Given the description of an element on the screen output the (x, y) to click on. 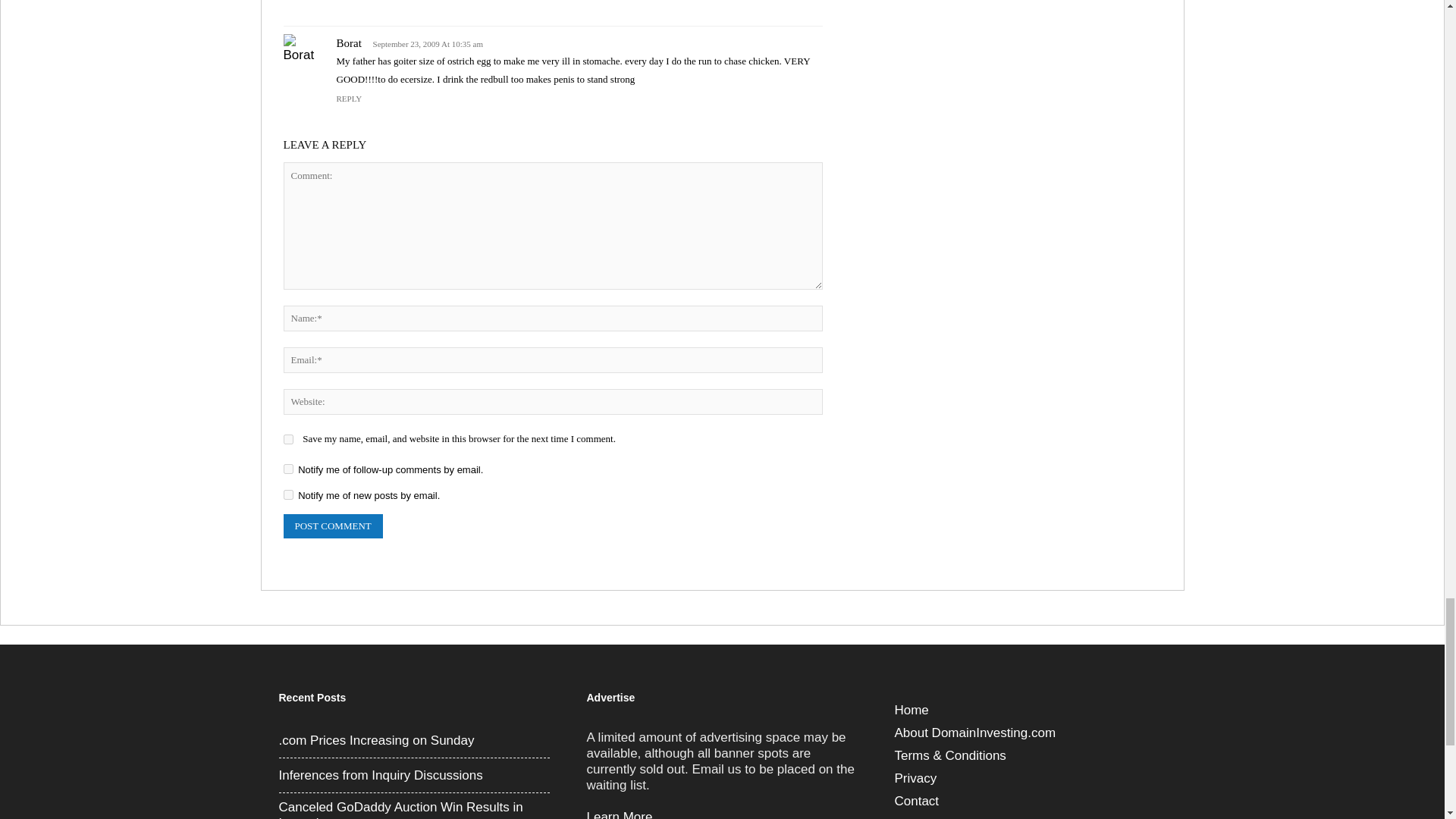
subscribe (288, 469)
subscribe (288, 494)
yes (288, 439)
Post Comment (332, 526)
